Given the description of an element on the screen output the (x, y) to click on. 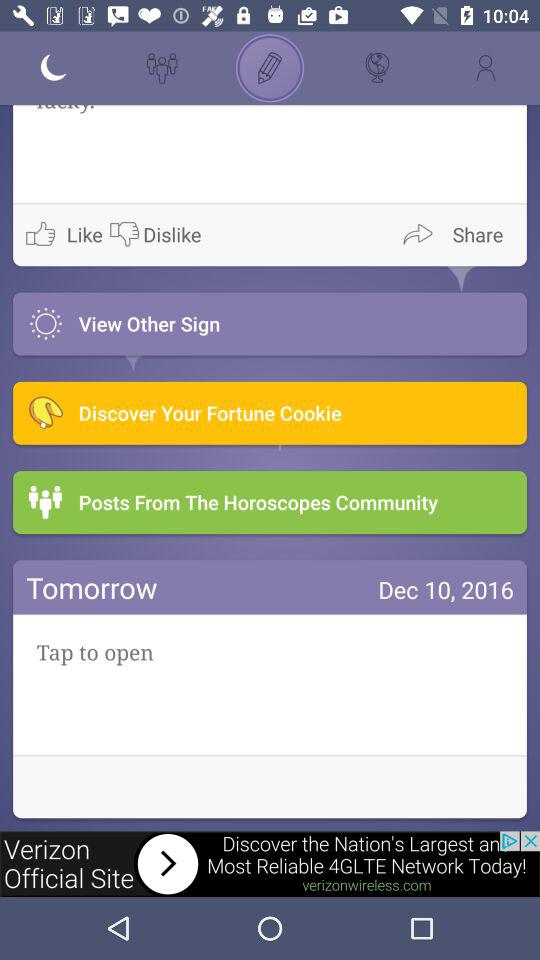
draw (269, 68)
